Given the description of an element on the screen output the (x, y) to click on. 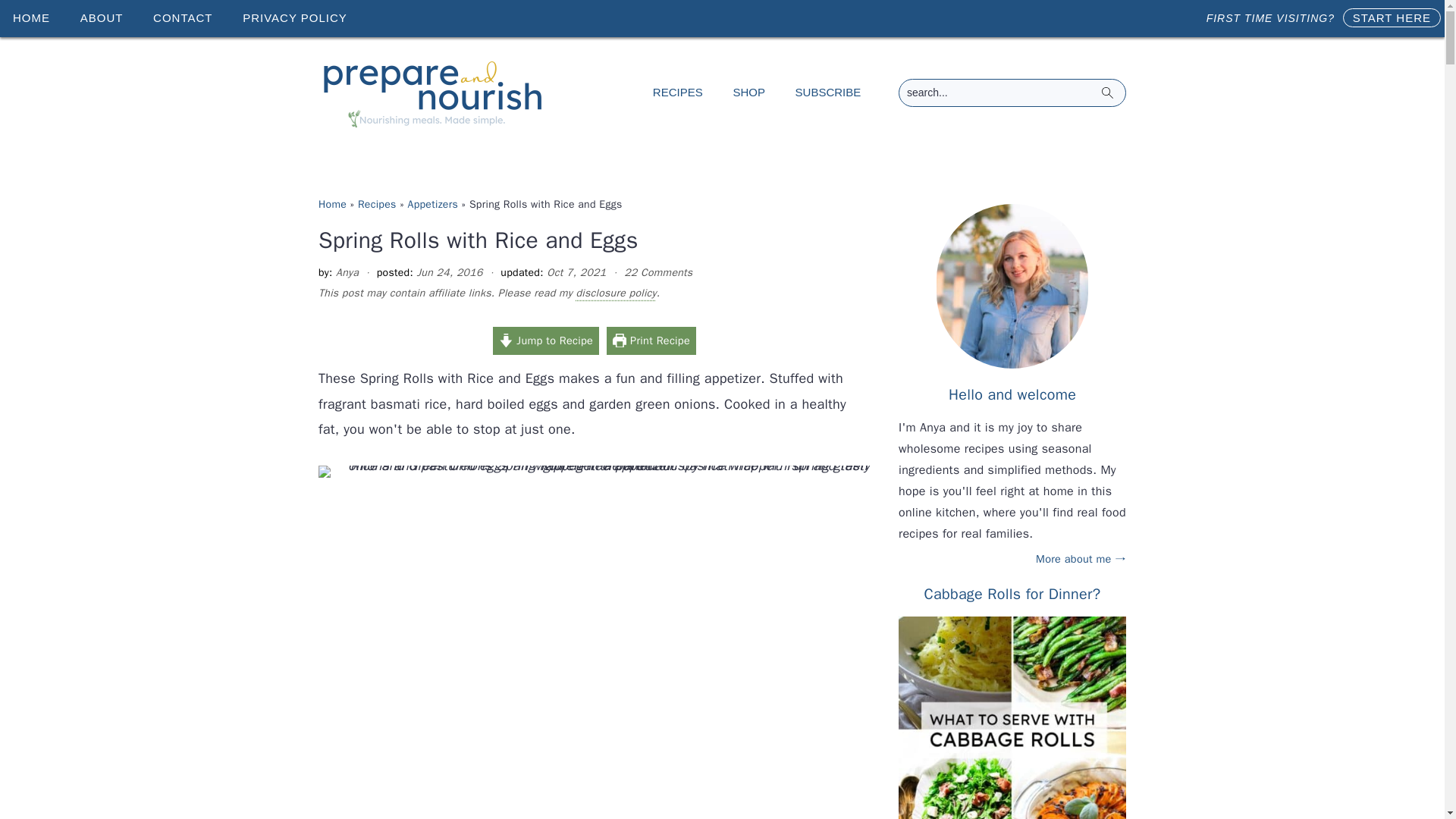
ABOUT (101, 18)
Search (1238, 81)
SUBSCRIBE (829, 92)
Home (332, 204)
PRIVACY POLICY (294, 18)
RECIPES (678, 92)
Recipes (377, 204)
Search (1238, 81)
Appetizers (432, 204)
